Given the description of an element on the screen output the (x, y) to click on. 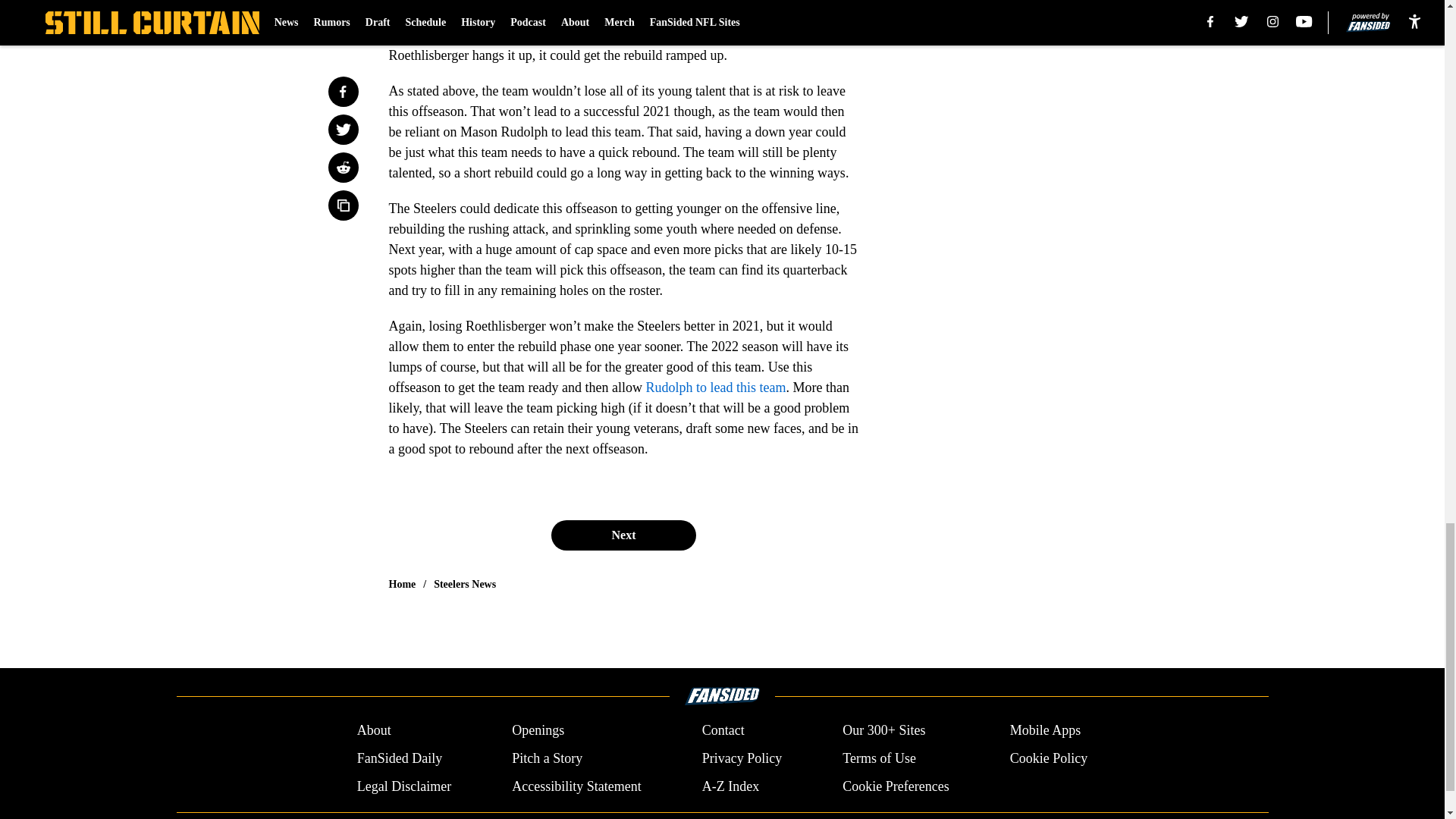
Next (622, 535)
Home (401, 584)
Steelers News (464, 584)
Rudolph to lead this team (716, 387)
FanSided Daily (399, 758)
Mobile Apps (1045, 730)
Contact (722, 730)
About (373, 730)
Openings (538, 730)
